Given the description of an element on the screen output the (x, y) to click on. 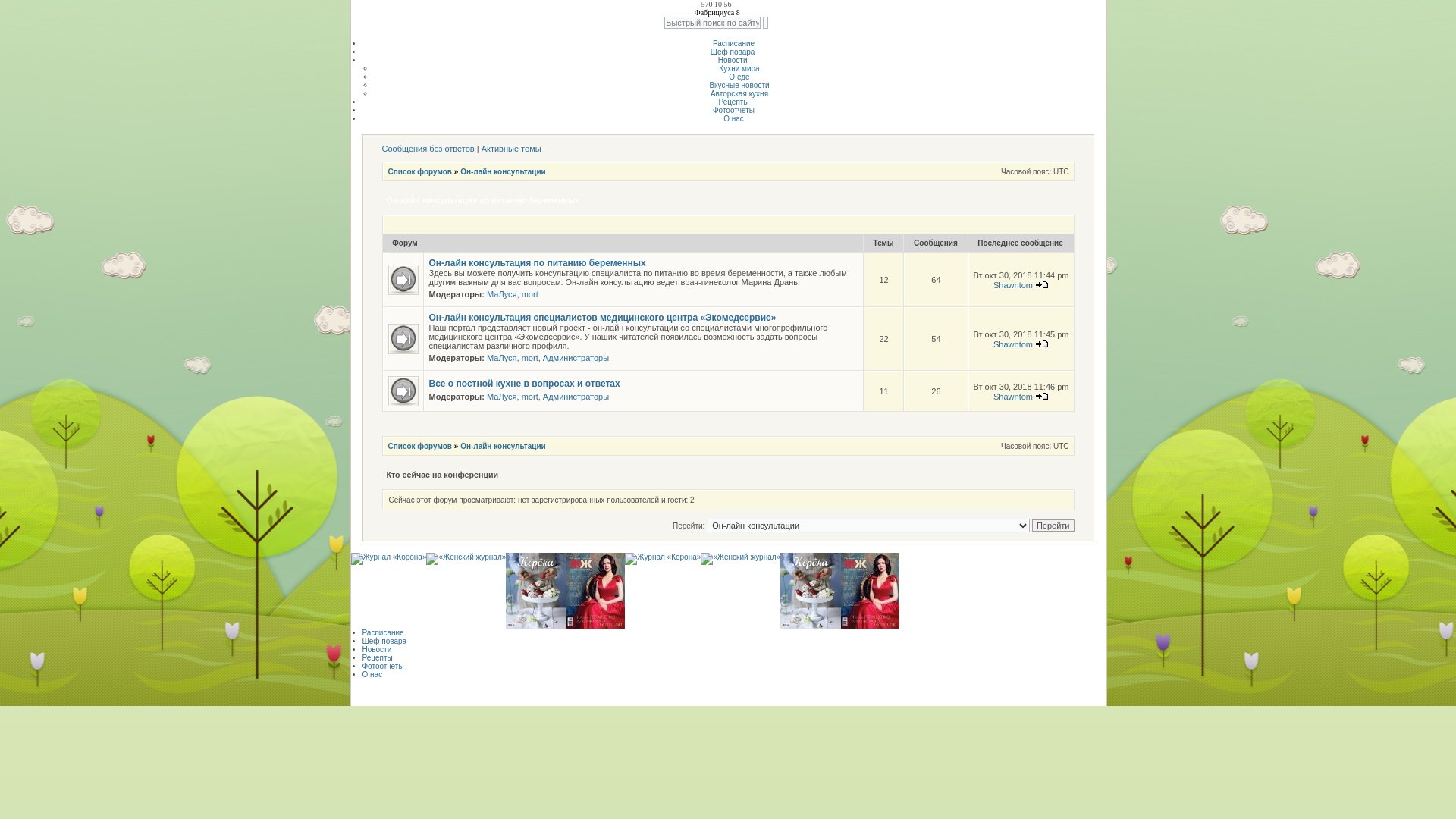
mort Element type: text (529, 357)
Shawntom Element type: text (1012, 395)
mort Element type: text (529, 293)
  Element type: text (765, 22)
mort Element type: text (529, 396)
Shawntom Element type: text (1012, 343)
Shawntom Element type: text (1012, 284)
